Given the description of an element on the screen output the (x, y) to click on. 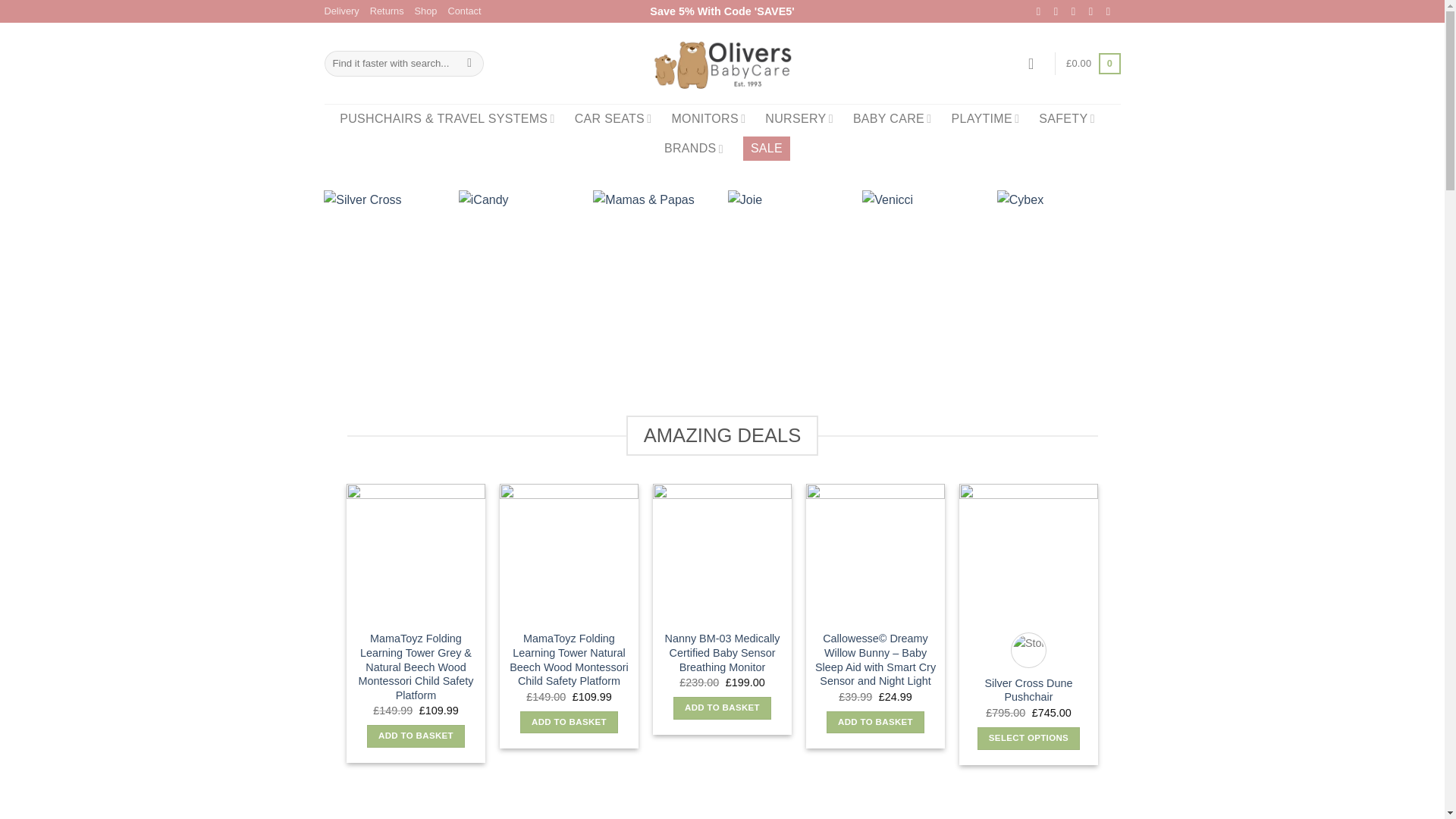
Search (469, 63)
Shop (426, 11)
Delivery (341, 11)
Basket (1092, 63)
Contact (463, 11)
Returns (386, 11)
